Given the description of an element on the screen output the (x, y) to click on. 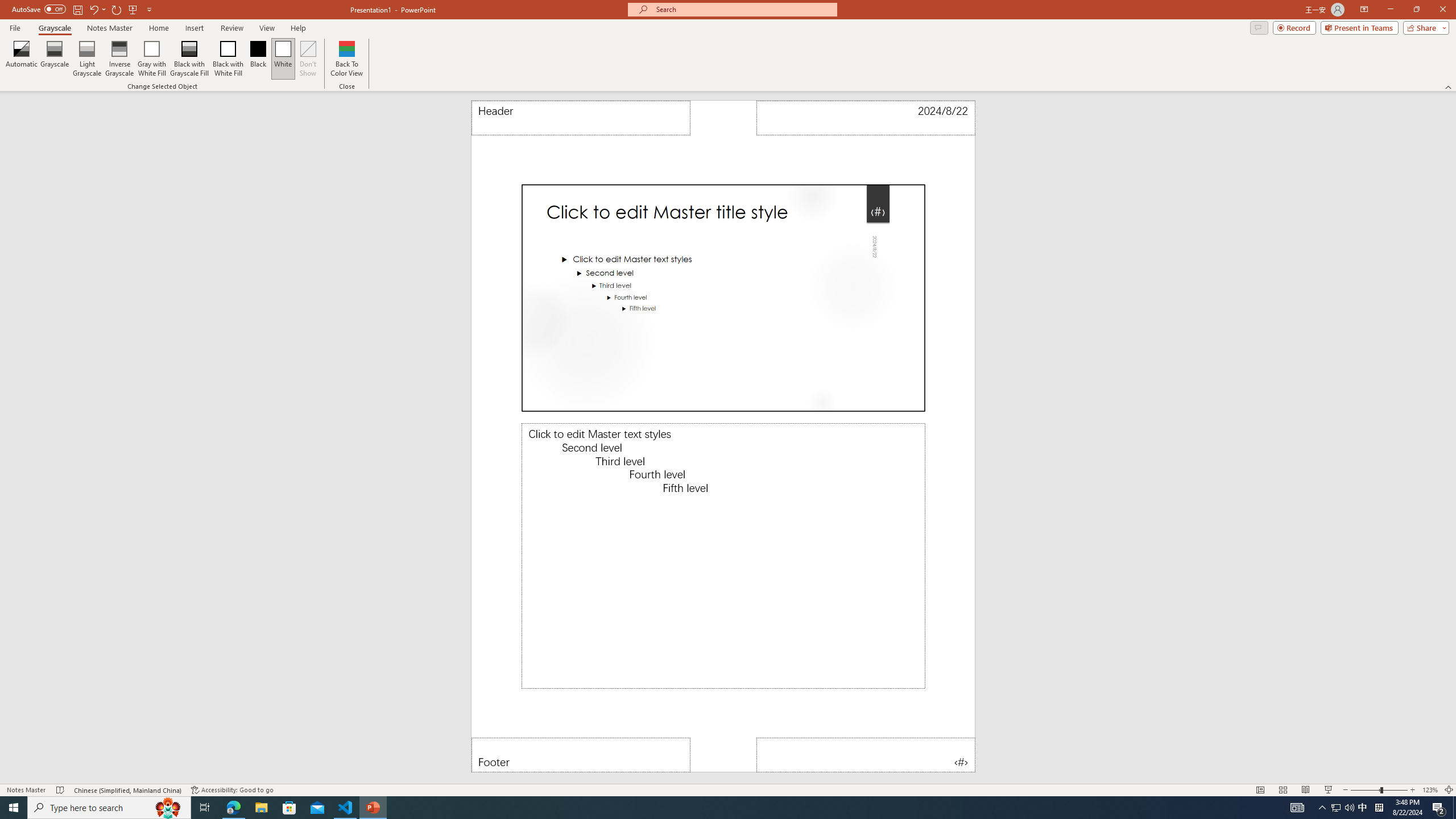
Page Number (866, 754)
Zoom 123% (1430, 790)
Black (258, 58)
